Given the description of an element on the screen output the (x, y) to click on. 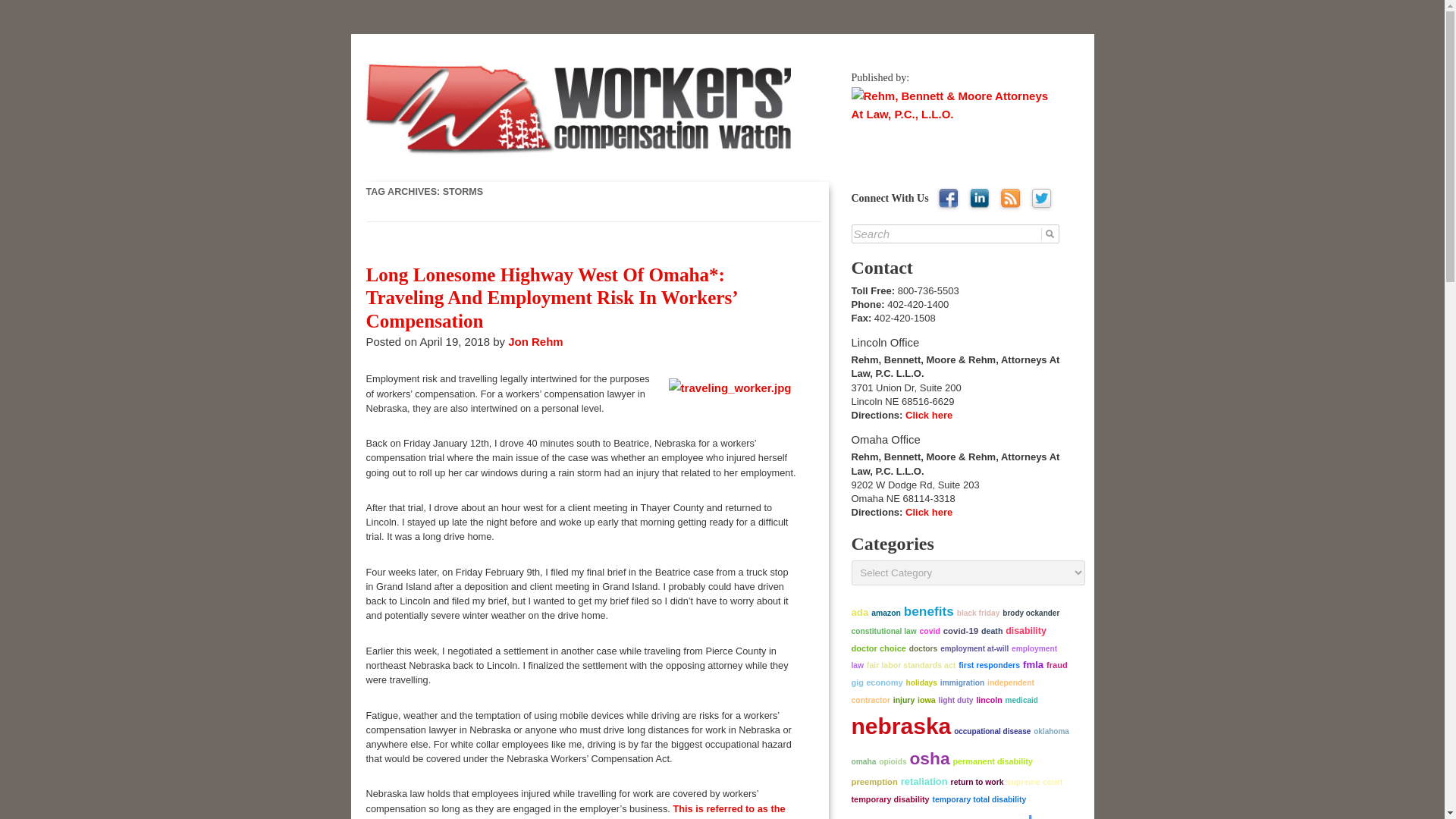
Jon Rehm (535, 341)
Search (955, 233)
This is referred to as the commercial traveler rule (574, 811)
View all posts by Jon Rehm (535, 341)
Workers' Compensation Watch (523, 62)
Workers' Compensation Watch (523, 62)
